Given the description of an element on the screen output the (x, y) to click on. 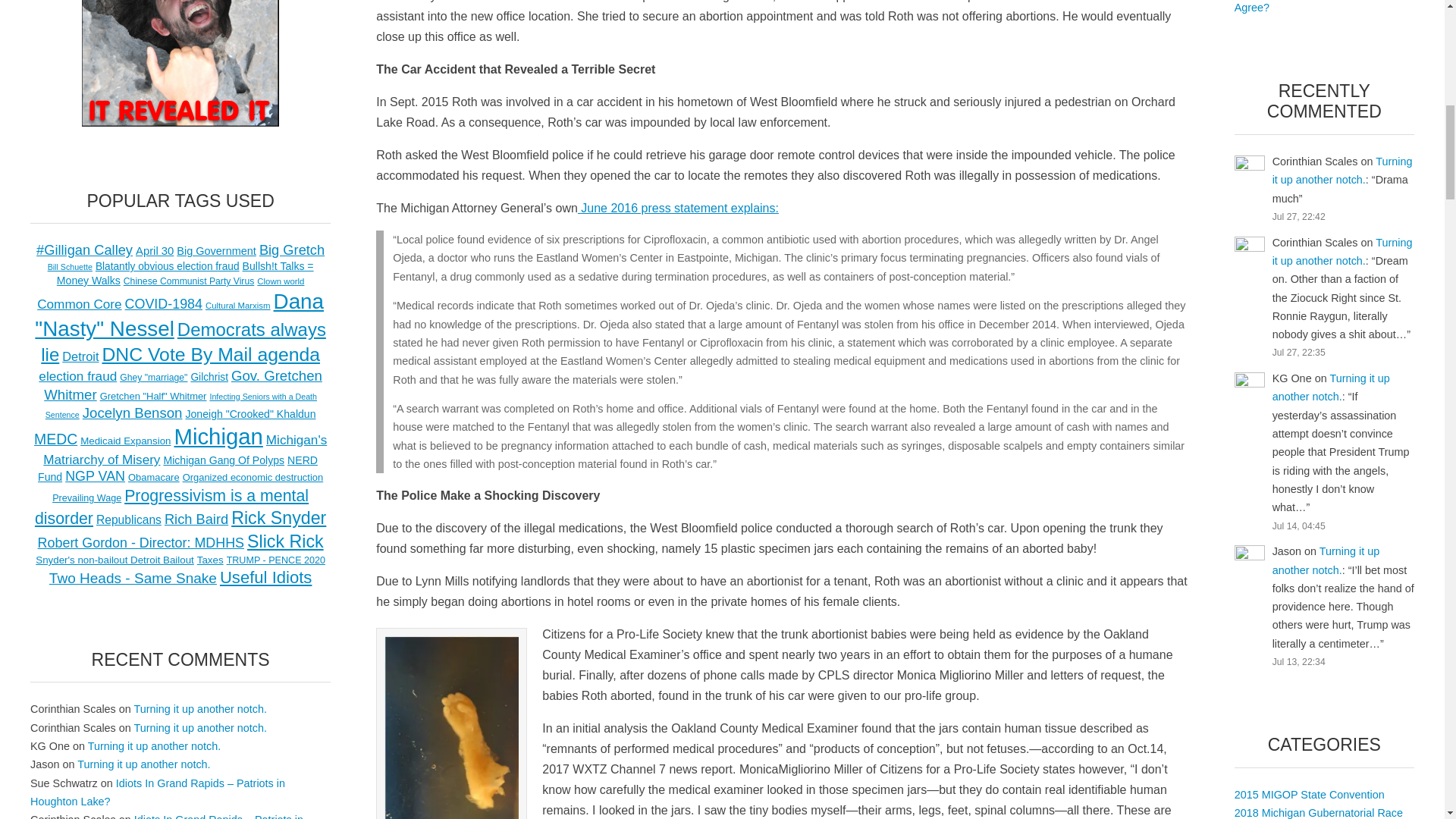
Bill Schuette (70, 266)
Ghey "marriage" (153, 377)
Gilchrist (209, 377)
Clown world (280, 280)
COVID-1984 (163, 304)
Common Core (78, 304)
Detroit (80, 356)
Gov. Gretchen Whitmer (182, 384)
Blatantly obvious election fraud (168, 266)
DNC Vote By Mail agenda (210, 353)
